Given the description of an element on the screen output the (x, y) to click on. 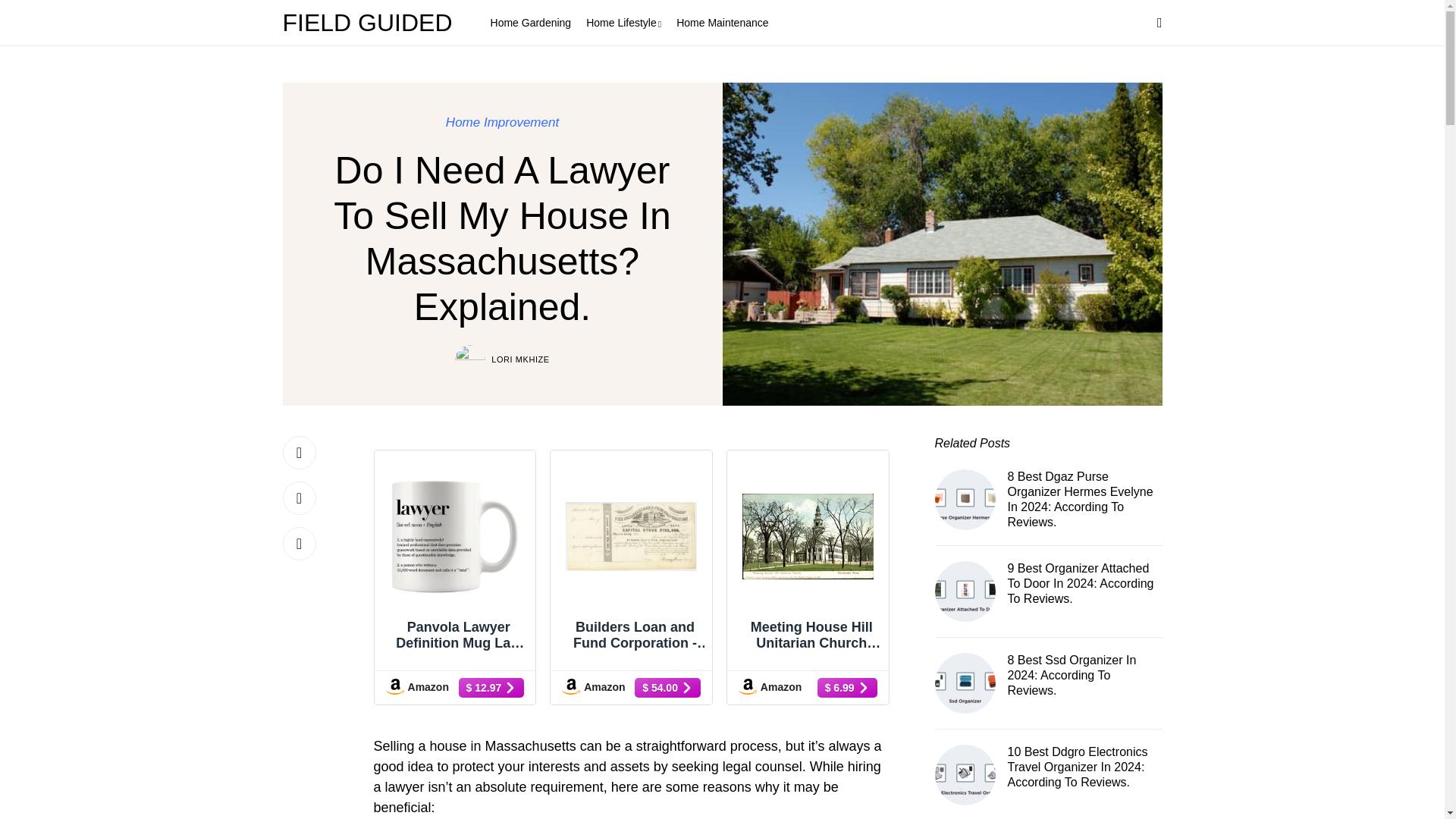
FIELD GUIDED (371, 22)
Home Lifestyle (623, 22)
Home Maintenance (722, 22)
Home Gardening (531, 22)
